Given the description of an element on the screen output the (x, y) to click on. 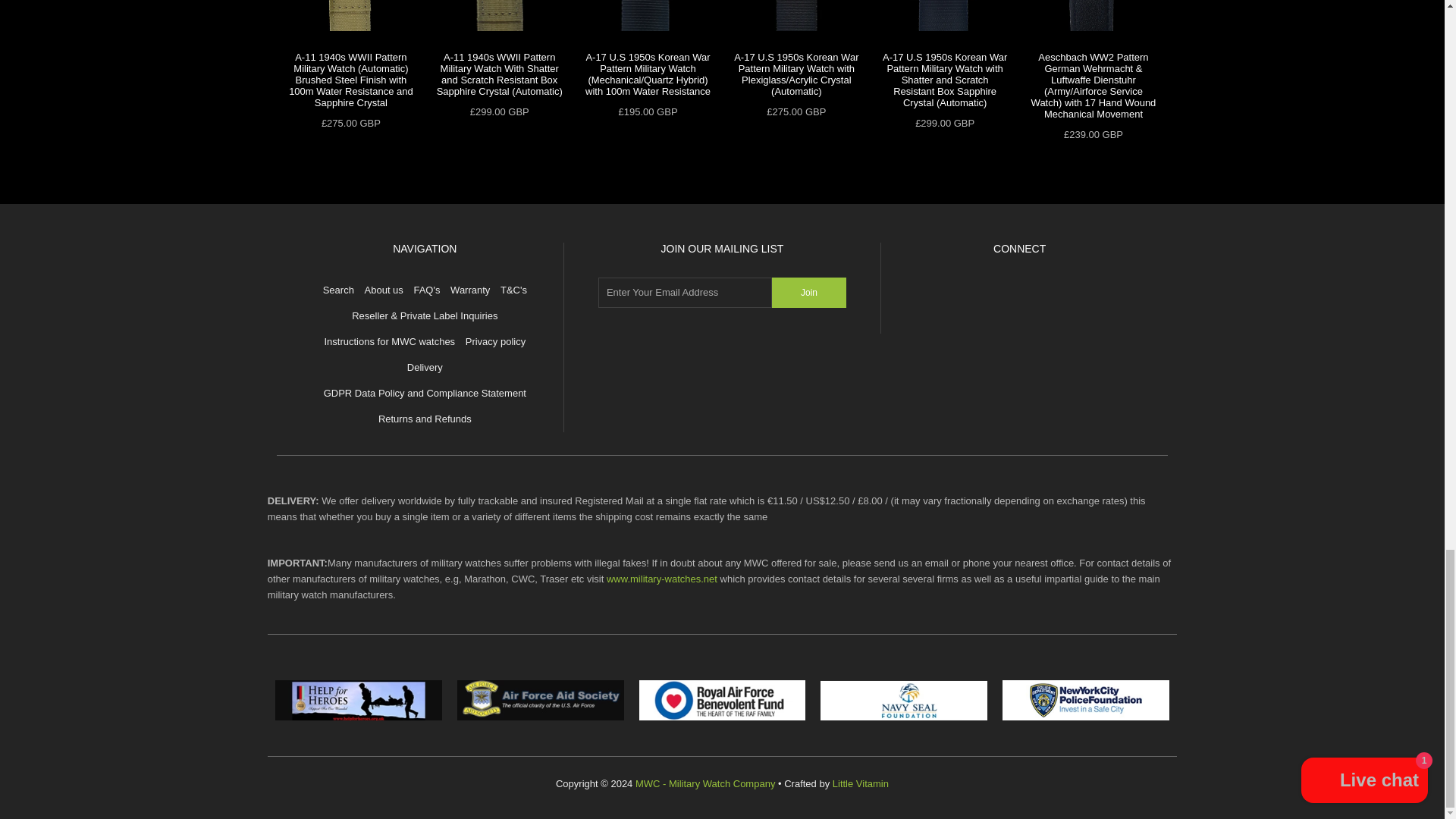
Join (808, 292)
